Given the description of an element on the screen output the (x, y) to click on. 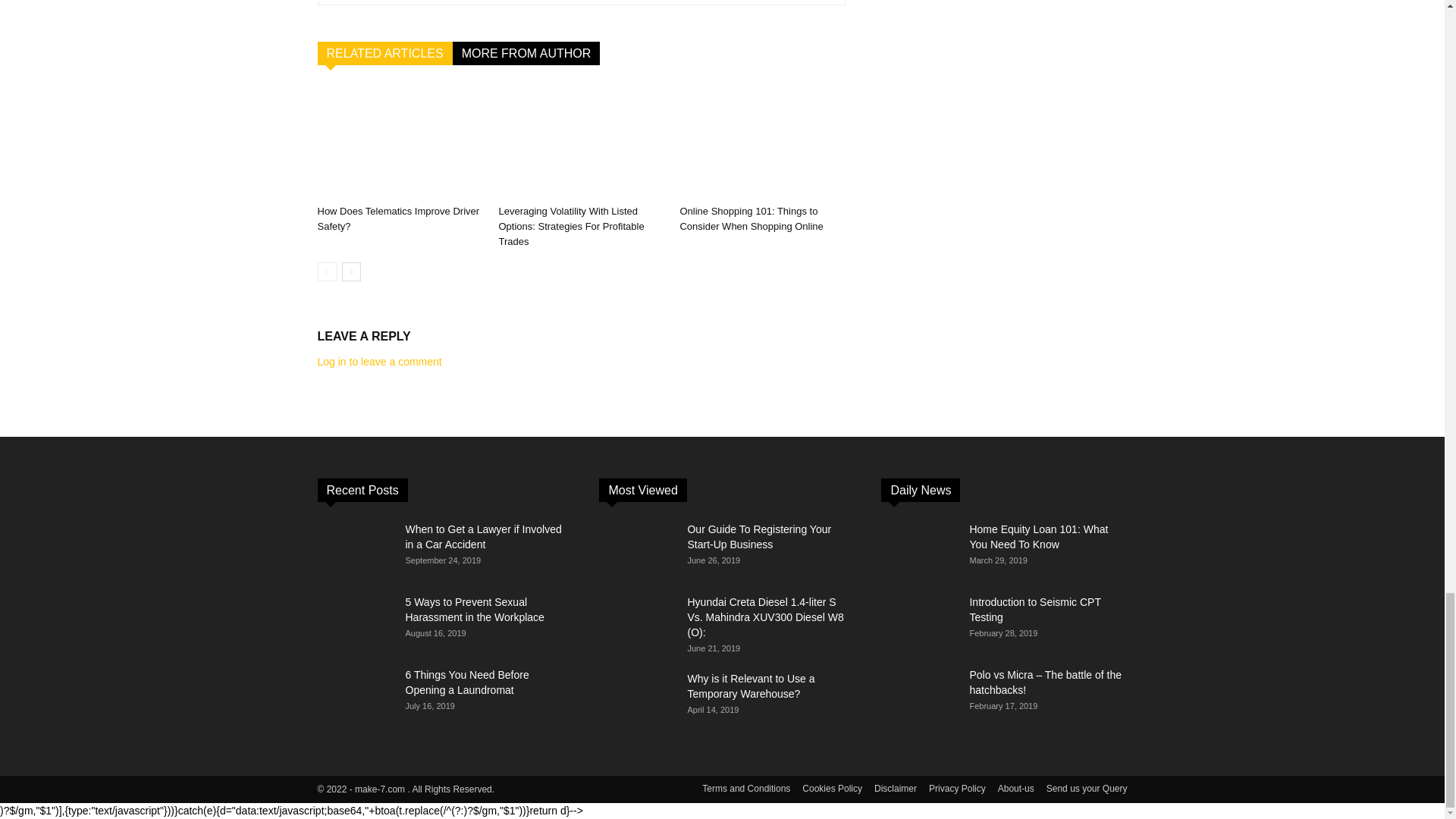
Online Shopping 101: Things to Consider When Shopping Online (750, 218)
How Does Telematics Improve Driver Safety? (399, 142)
How Does Telematics Improve Driver Safety? (398, 218)
Online Shopping 101: Things to Consider When Shopping Online (761, 142)
